Given the description of an element on the screen output the (x, y) to click on. 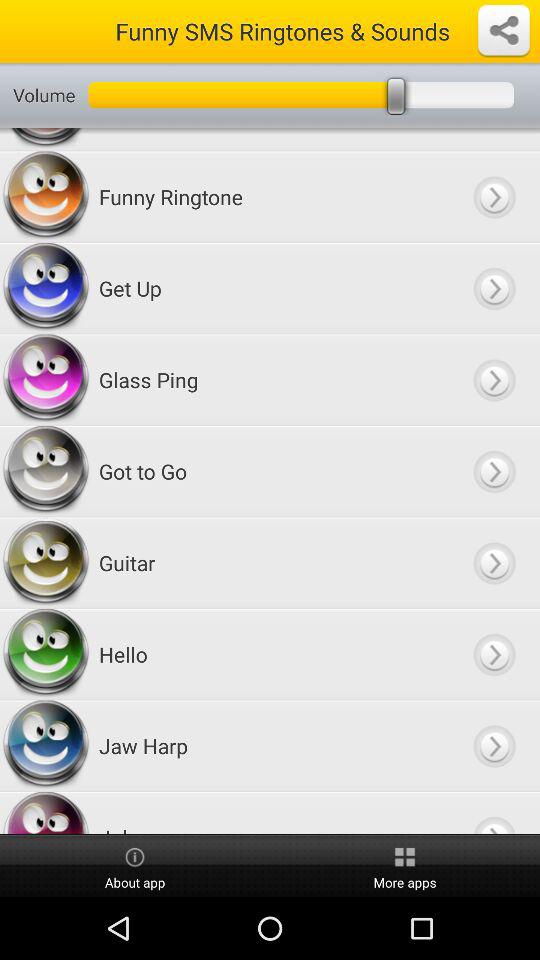
go to next (494, 813)
